Given the description of an element on the screen output the (x, y) to click on. 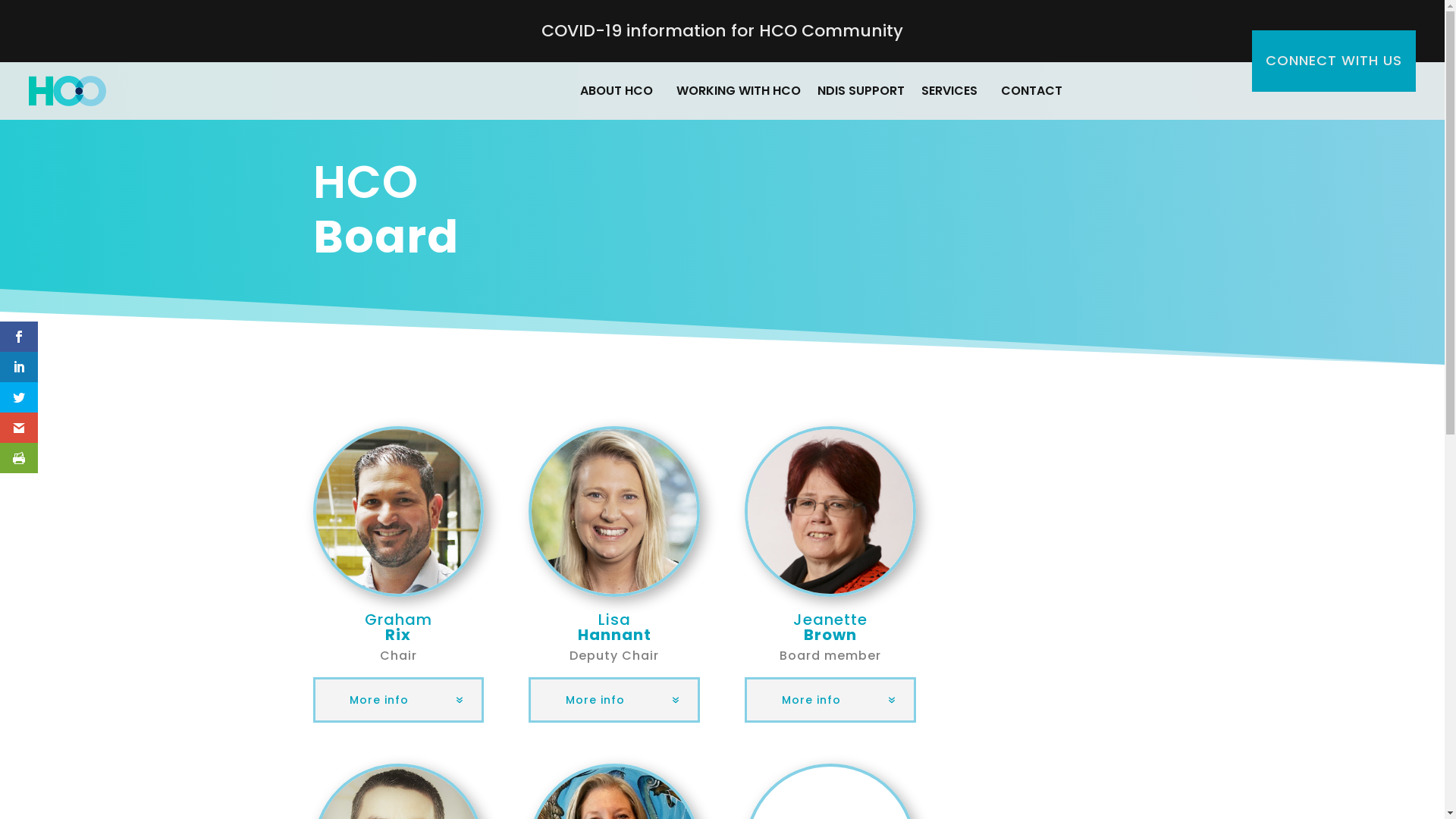
CONNECT WITH US Element type: text (1333, 60)
SERVICES Element type: text (956, 90)
Graham_Rix_300x300 Element type: hover (397, 511)
WORKING WITH HCO Element type: text (738, 90)
Jeanette_Brown_300x300 Element type: hover (829, 511)
Lisa_Hannant_300x300 Element type: hover (613, 511)
ABOUT HCO Element type: text (624, 90)
NDIS SUPPORT Element type: text (860, 90)
CONTACT Element type: text (1039, 90)
